Given the description of an element on the screen output the (x, y) to click on. 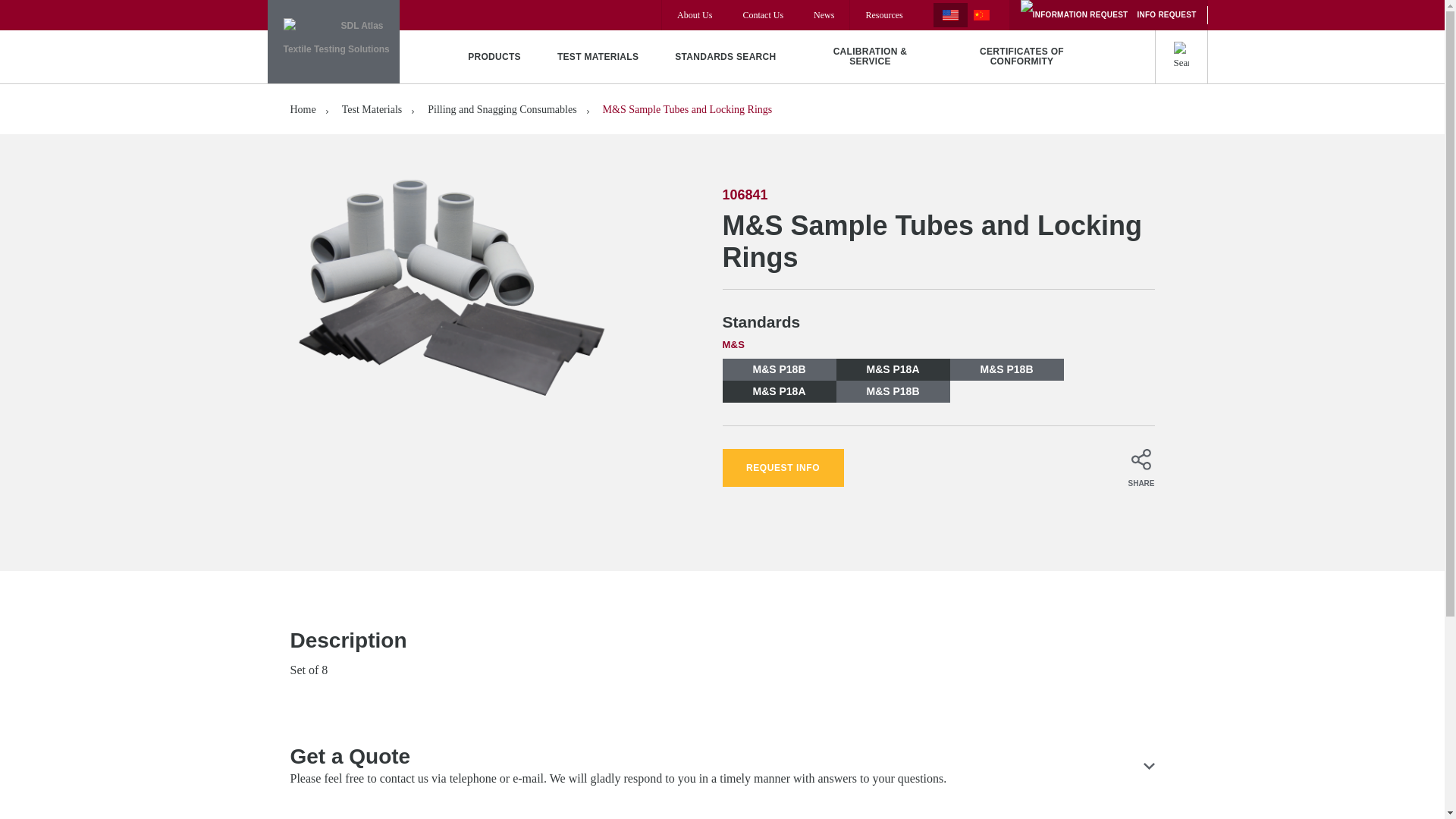
News (823, 14)
INFO REQUEST (1108, 15)
TEST MATERIALS (598, 56)
Contact Us (762, 14)
Resources (883, 14)
Textile Testing Solutions (332, 41)
About Us (694, 14)
PRODUCTS (494, 56)
